Given the description of an element on the screen output the (x, y) to click on. 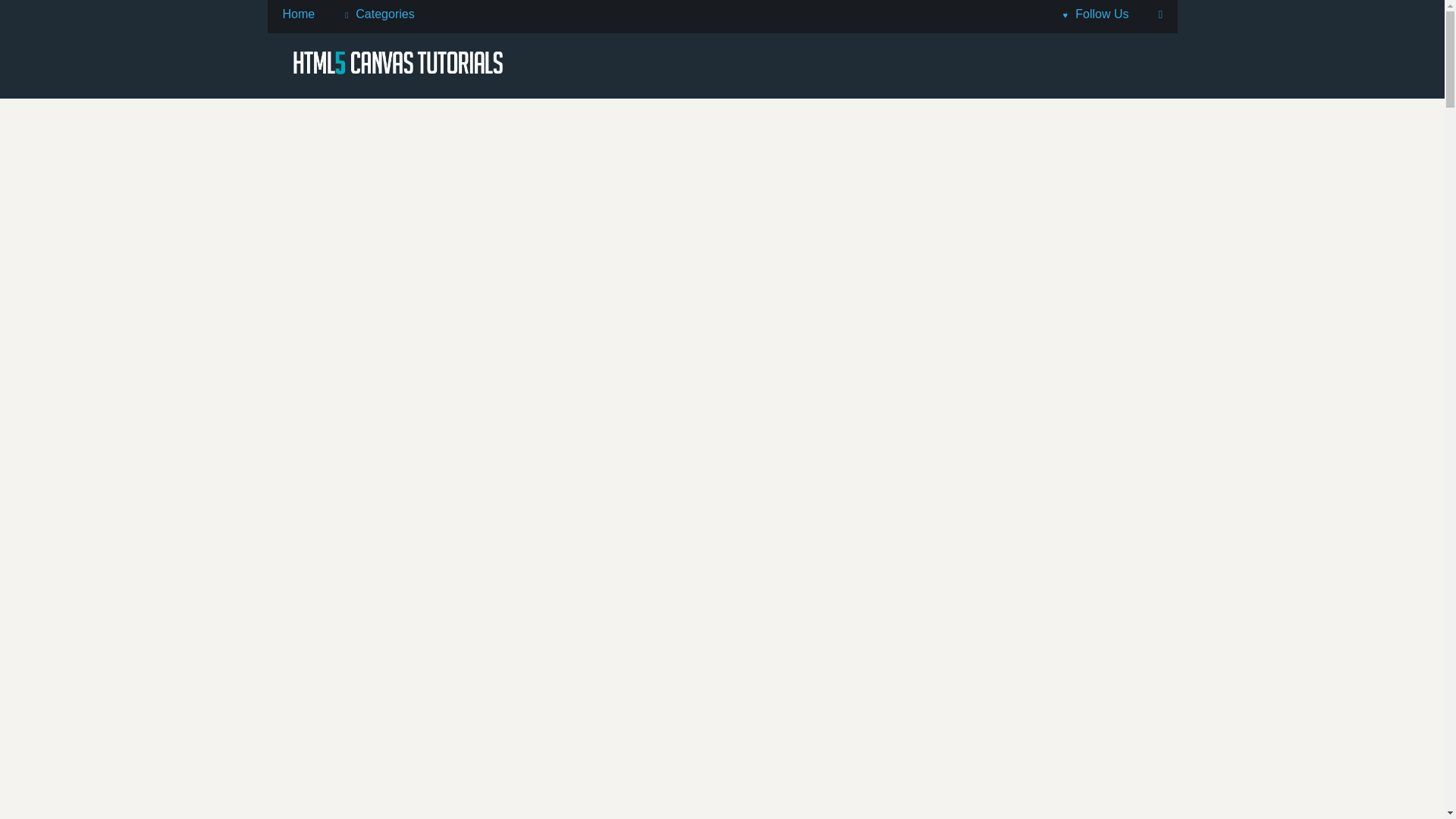
Categories (379, 14)
Follow Us (1096, 14)
Home (298, 14)
